Given the description of an element on the screen output the (x, y) to click on. 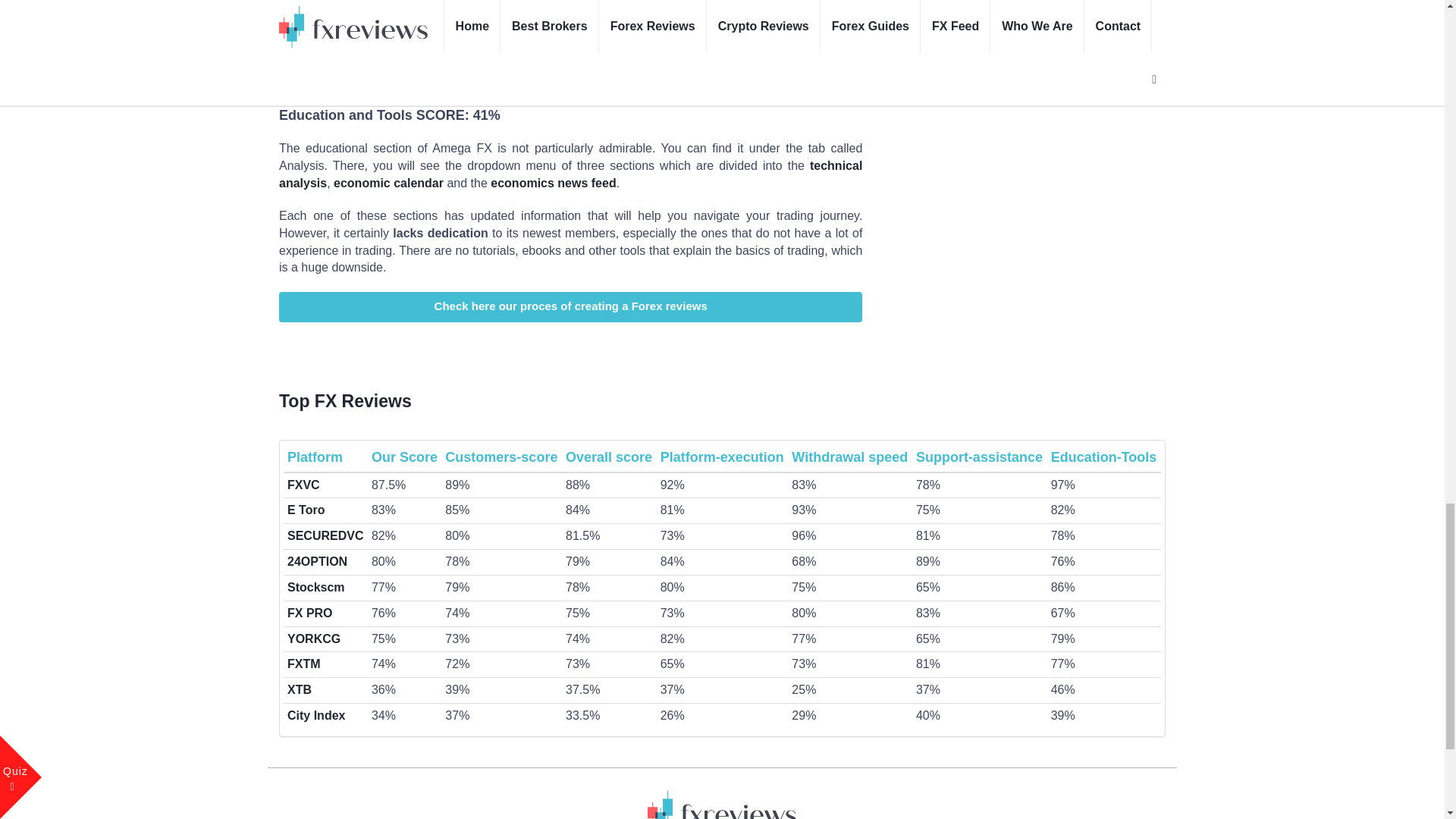
economic calendar (388, 182)
technical analysis (570, 173)
Check here our proces of creating a Forex reviews (570, 306)
contact their customer support (608, 13)
economics news feed (552, 182)
